Given the description of an element on the screen output the (x, y) to click on. 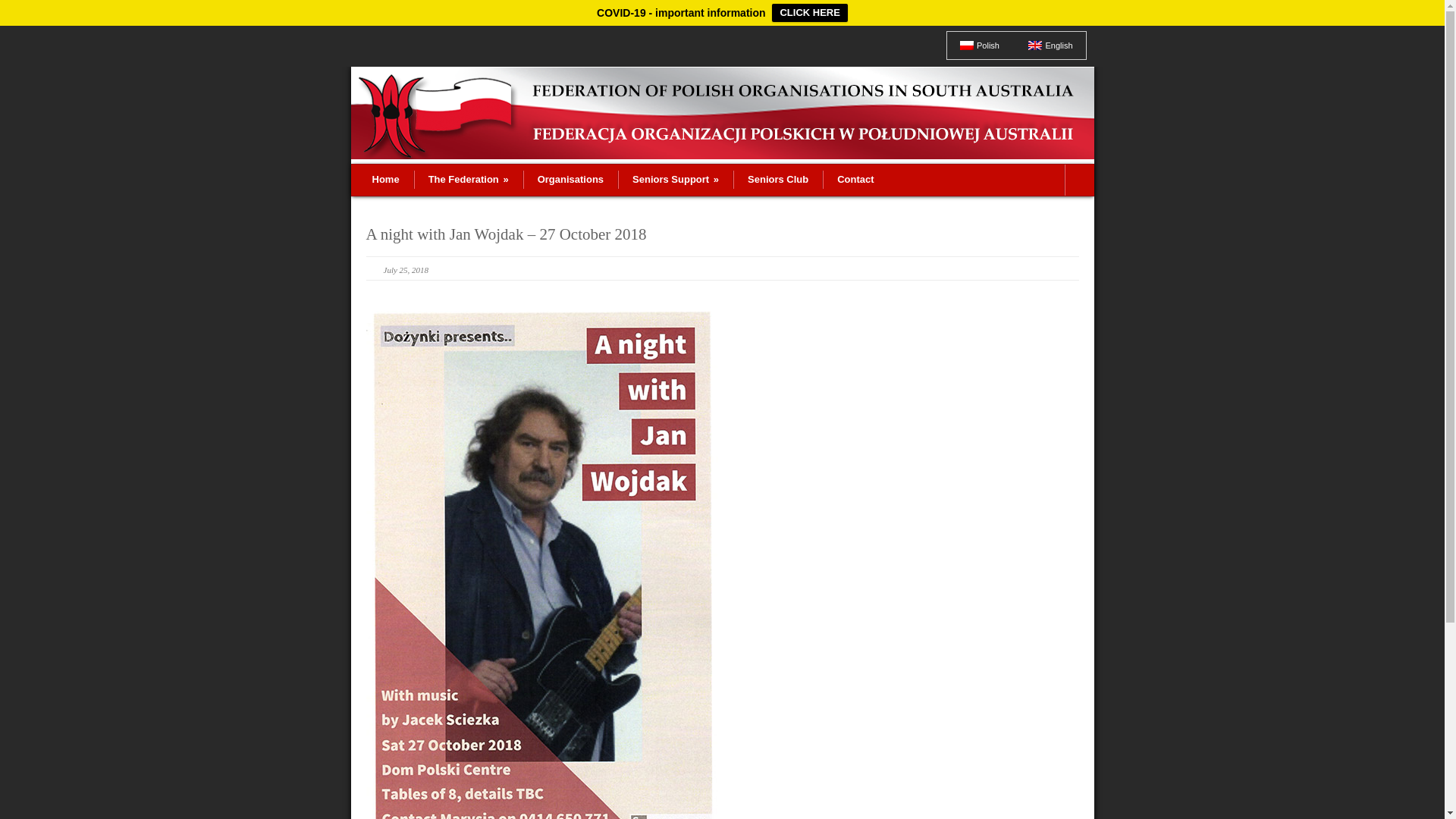
Polish Element type: text (979, 45)
CLICK HERE Element type: text (809, 12)
polski Element type: hover (966, 45)
Home Element type: text (385, 179)
Seniors Club Element type: text (777, 179)
Contact Element type: text (854, 179)
English Element type: text (1049, 45)
Organisations Element type: text (570, 179)
English Element type: hover (1034, 45)
